Given the description of an element on the screen output the (x, y) to click on. 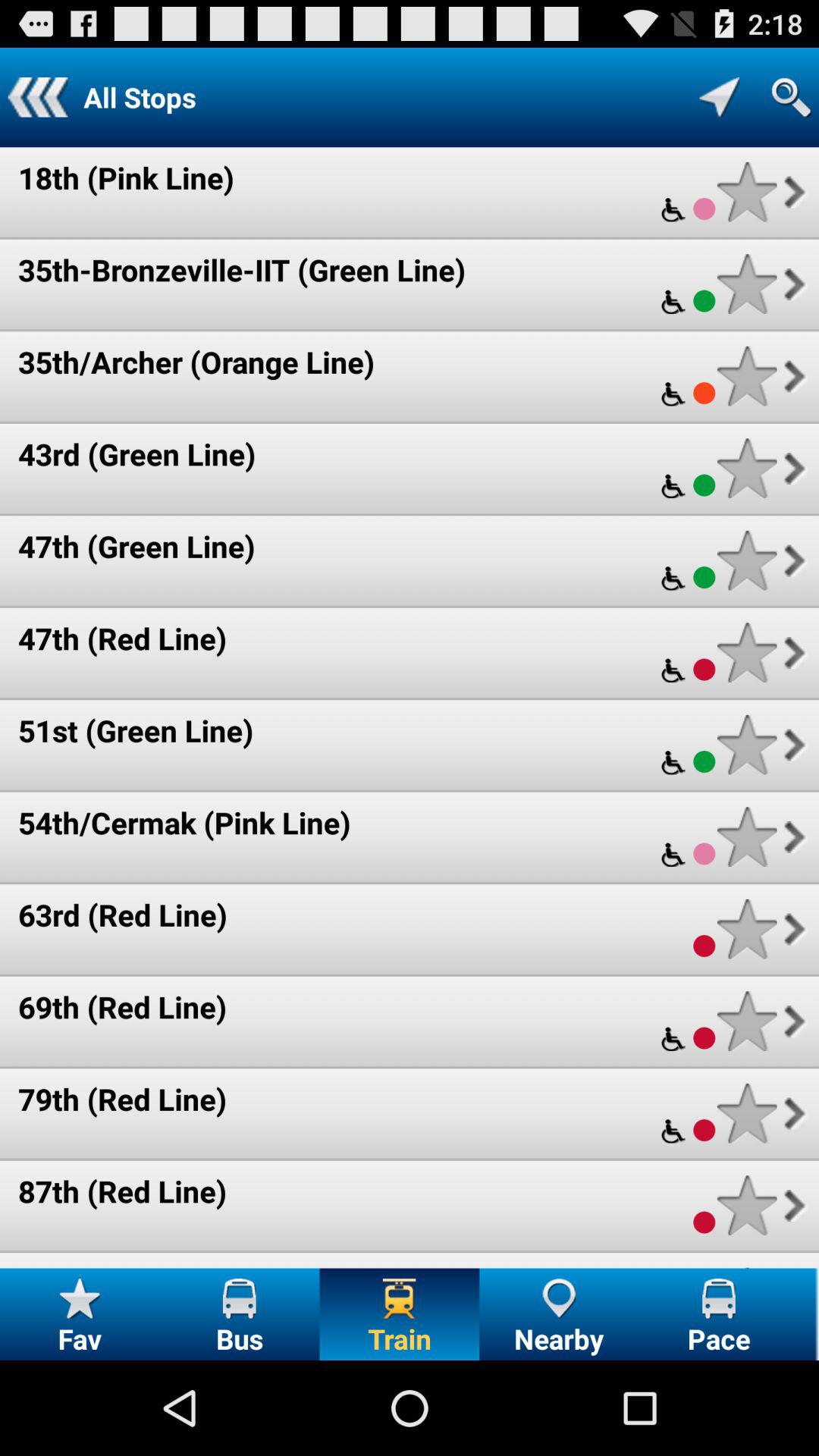
swipe until 43rd (green line) (136, 453)
